Given the description of an element on the screen output the (x, y) to click on. 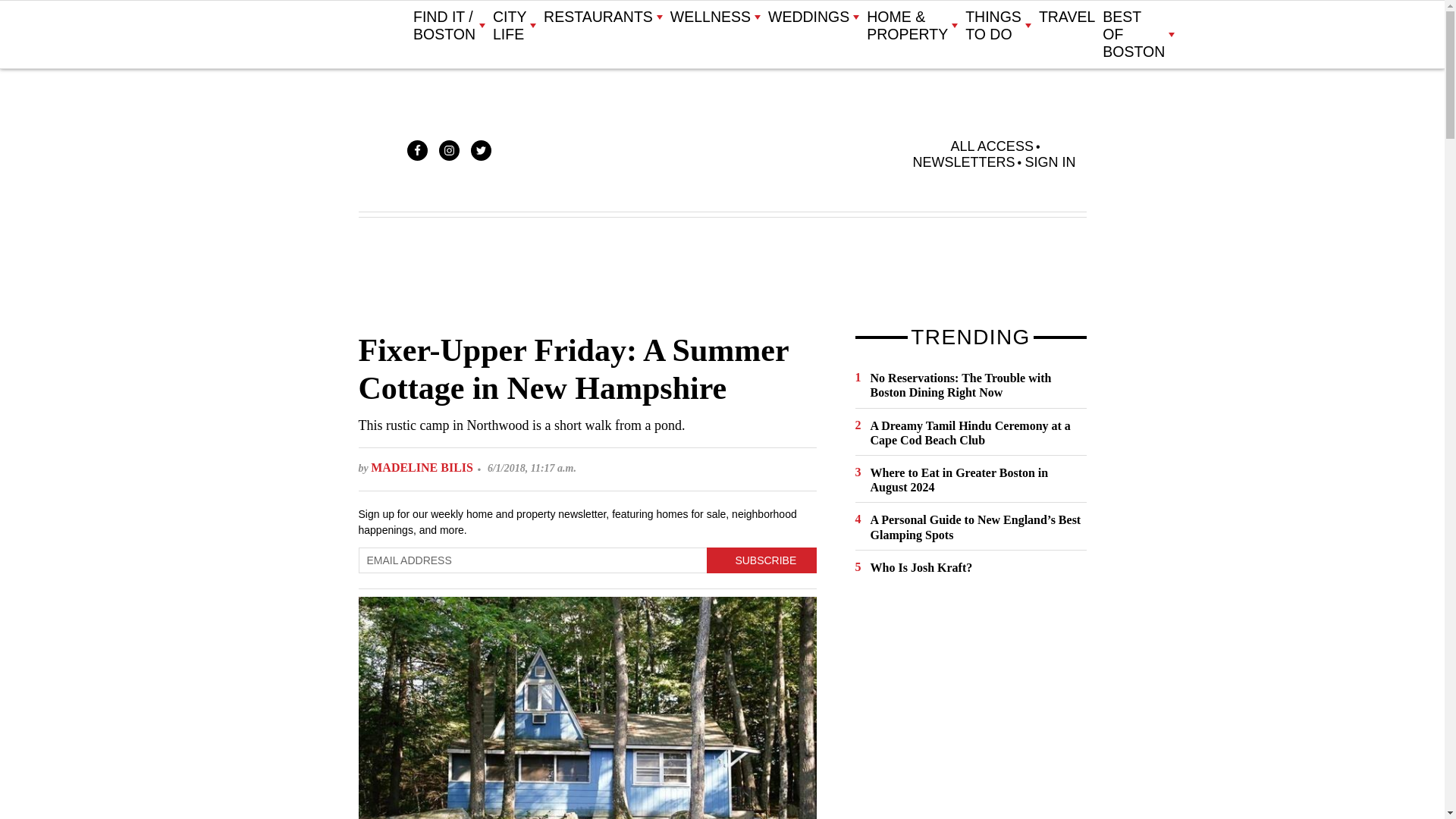
RESTAURANTS (602, 16)
THINGS TO DO (997, 25)
WEDDINGS (813, 16)
WELLNESS (714, 16)
Subscribe (761, 560)
